Given the description of an element on the screen output the (x, y) to click on. 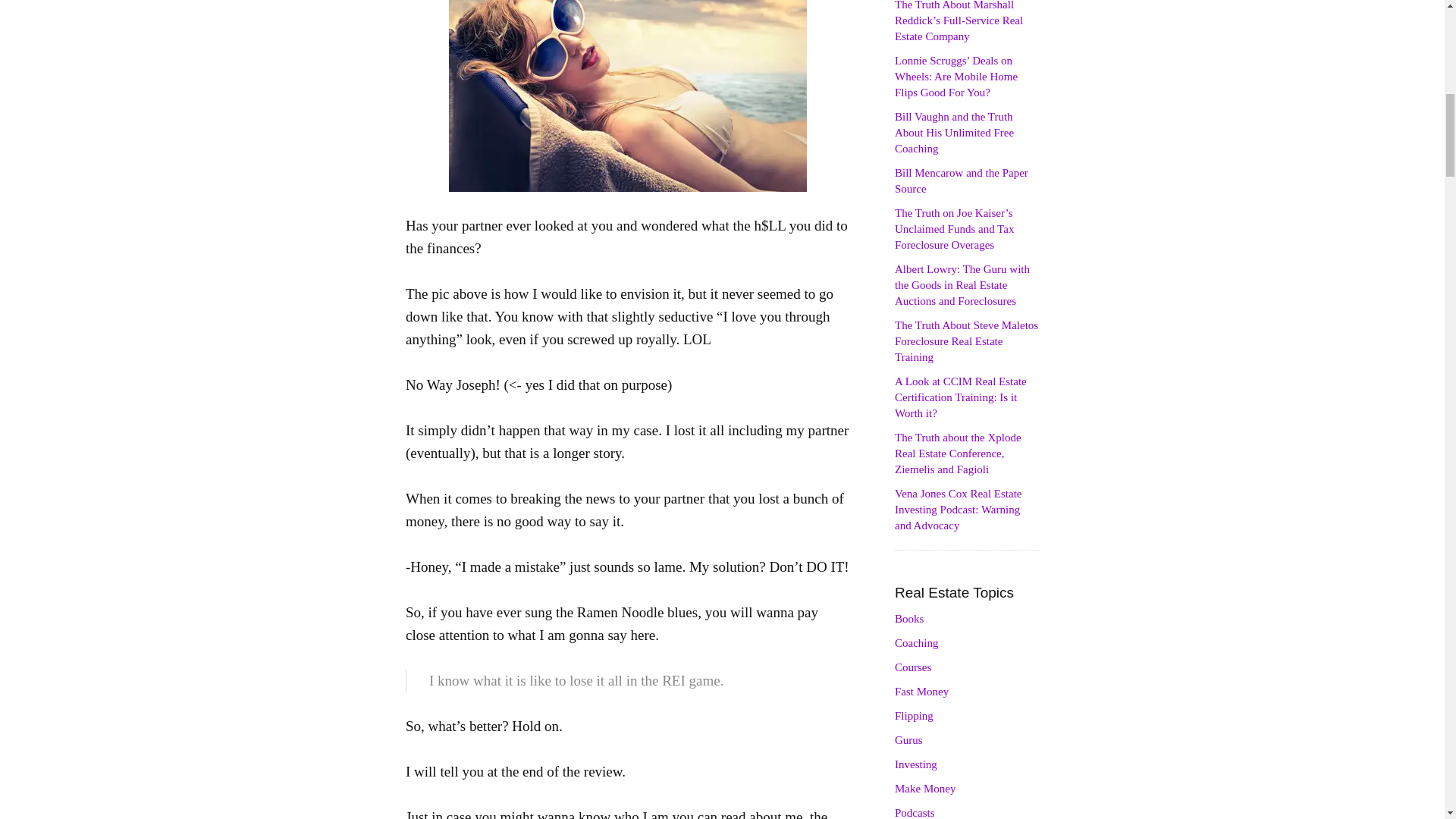
Gurus (909, 739)
Books (909, 618)
Fast Money (922, 691)
Bill Vaughn and the Truth About His Unlimited Free Coaching (954, 132)
Bill Mencarow and the Paper Source (961, 180)
Coaching (917, 643)
Courses (913, 666)
Flipping (914, 715)
